Given the description of an element on the screen output the (x, y) to click on. 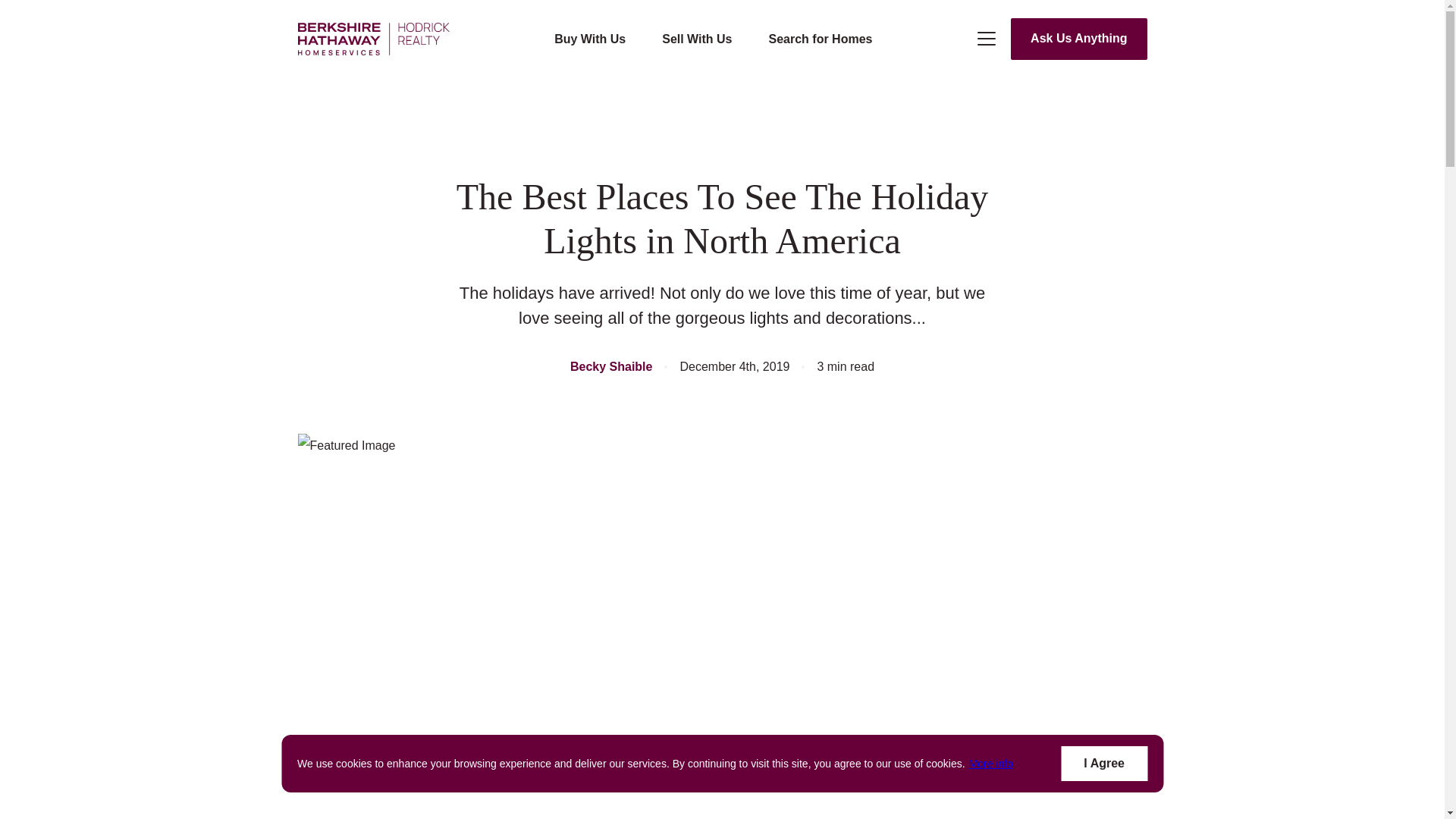
Buy With Us (590, 38)
Sell With Us (697, 38)
More info (991, 762)
I Agree (1104, 763)
Search for Homes (820, 38)
Becky Shaible (611, 366)
Ask Us Anything (1078, 38)
